Given the description of an element on the screen output the (x, y) to click on. 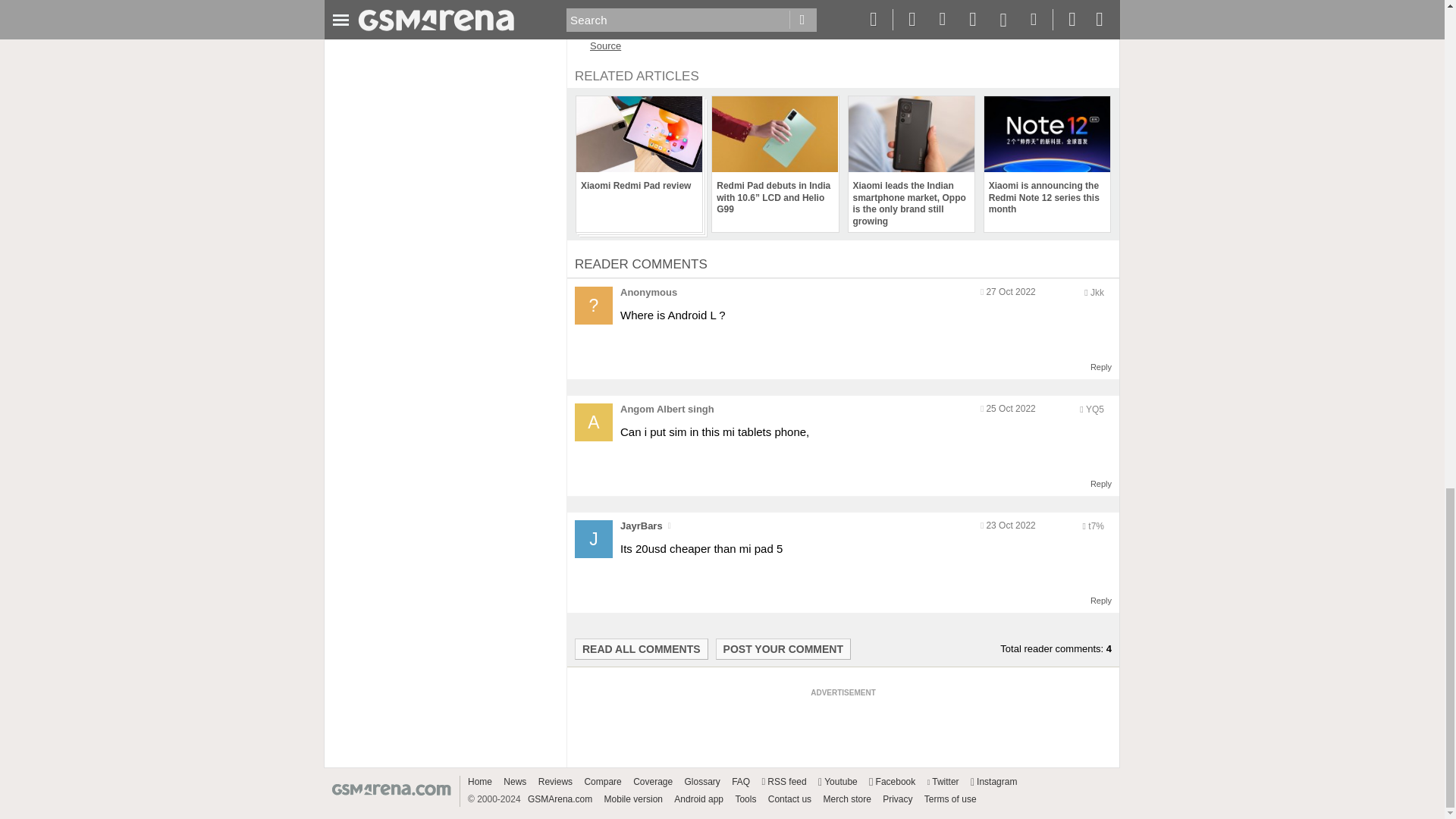
Reply to this post (1101, 366)
Reply to this post (1101, 483)
Reply to this post (1101, 600)
Encoded anonymized location (1094, 409)
Encoded anonymized location (1096, 292)
Encoded anonymized location (1095, 525)
